Given the description of an element on the screen output the (x, y) to click on. 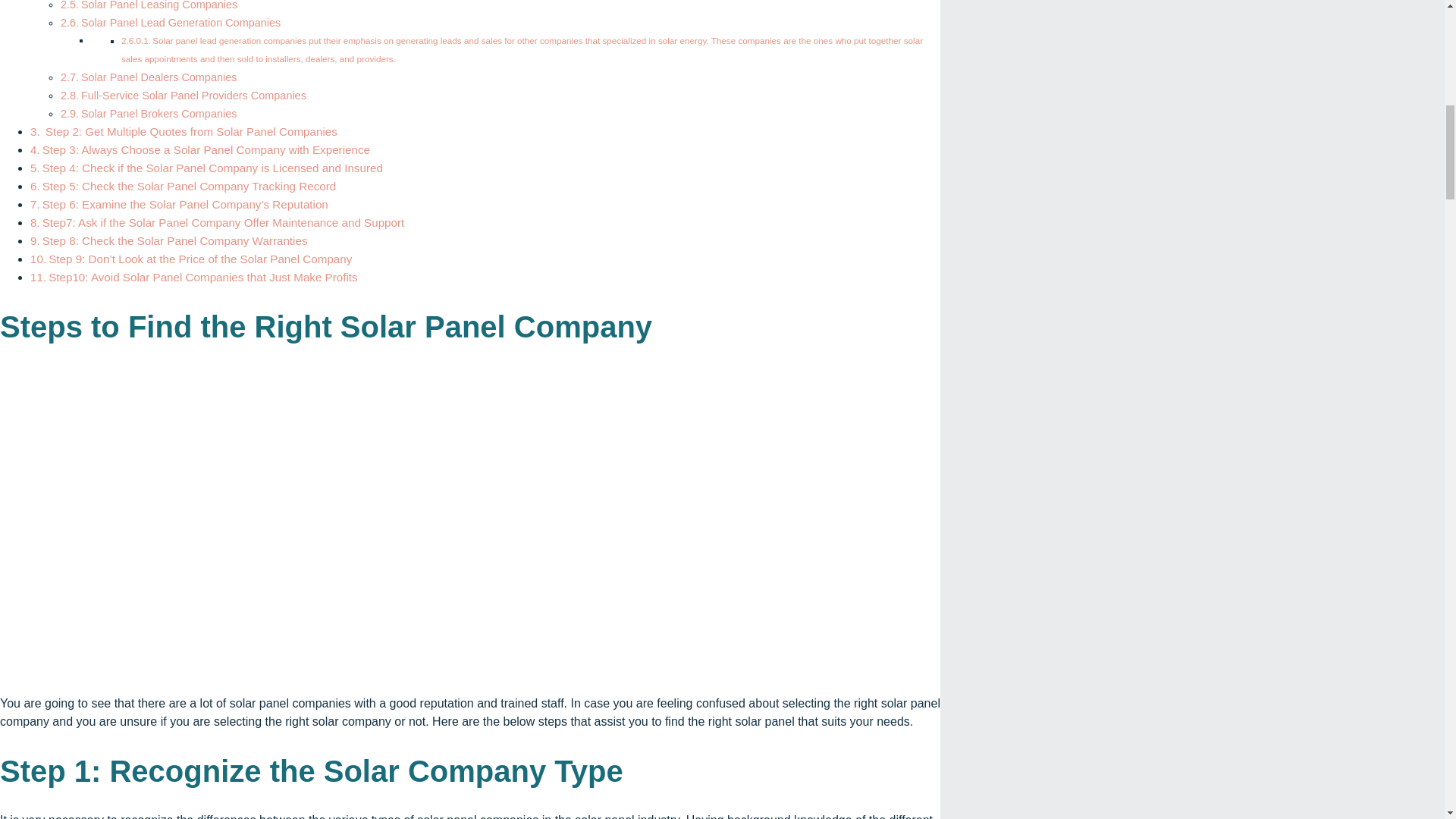
Full-Service Solar Panel Providers Companies (193, 95)
Solar Panel Lead Generation Companies (181, 22)
Solar Panel Leasing Companies (159, 5)
Solar Panel Brokers Companies (158, 113)
Solar Panel Dealers Companies (158, 77)
Solar Panel Leasing Companies (159, 5)
 Step 2: Get Multiple Quotes from Solar Panel Companies (189, 131)
Solar Panel Dealers Companies (158, 77)
Step 3: Always Choose a Solar Panel Company with Experience  (207, 149)
Solar Panel Lead Generation Companies (181, 22)
Step 5: Check the Solar Panel Company Tracking Record  (190, 185)
